Given the description of an element on the screen output the (x, y) to click on. 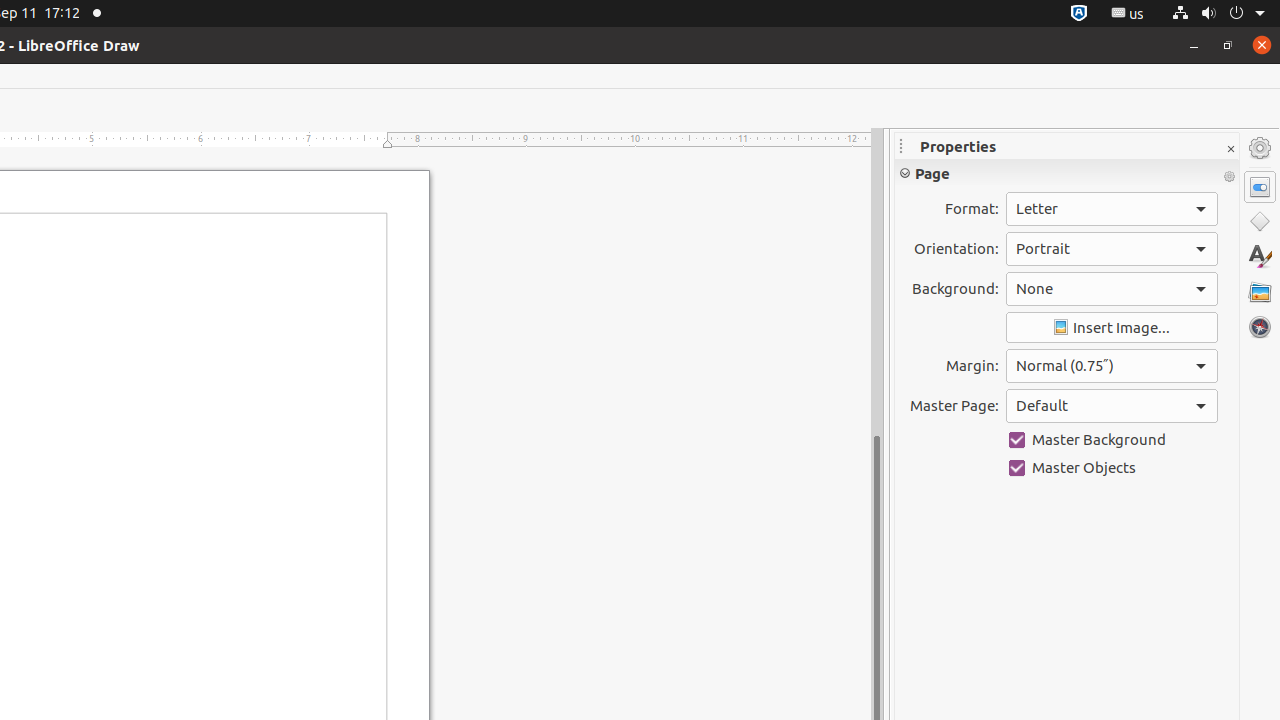
Shapes Element type: radio-button (1260, 222)
Gallery Element type: radio-button (1260, 292)
Insert Image Element type: push-button (1112, 327)
Close Sidebar Deck Element type: push-button (1230, 149)
More Options Element type: push-button (1229, 177)
